Given the description of an element on the screen output the (x, y) to click on. 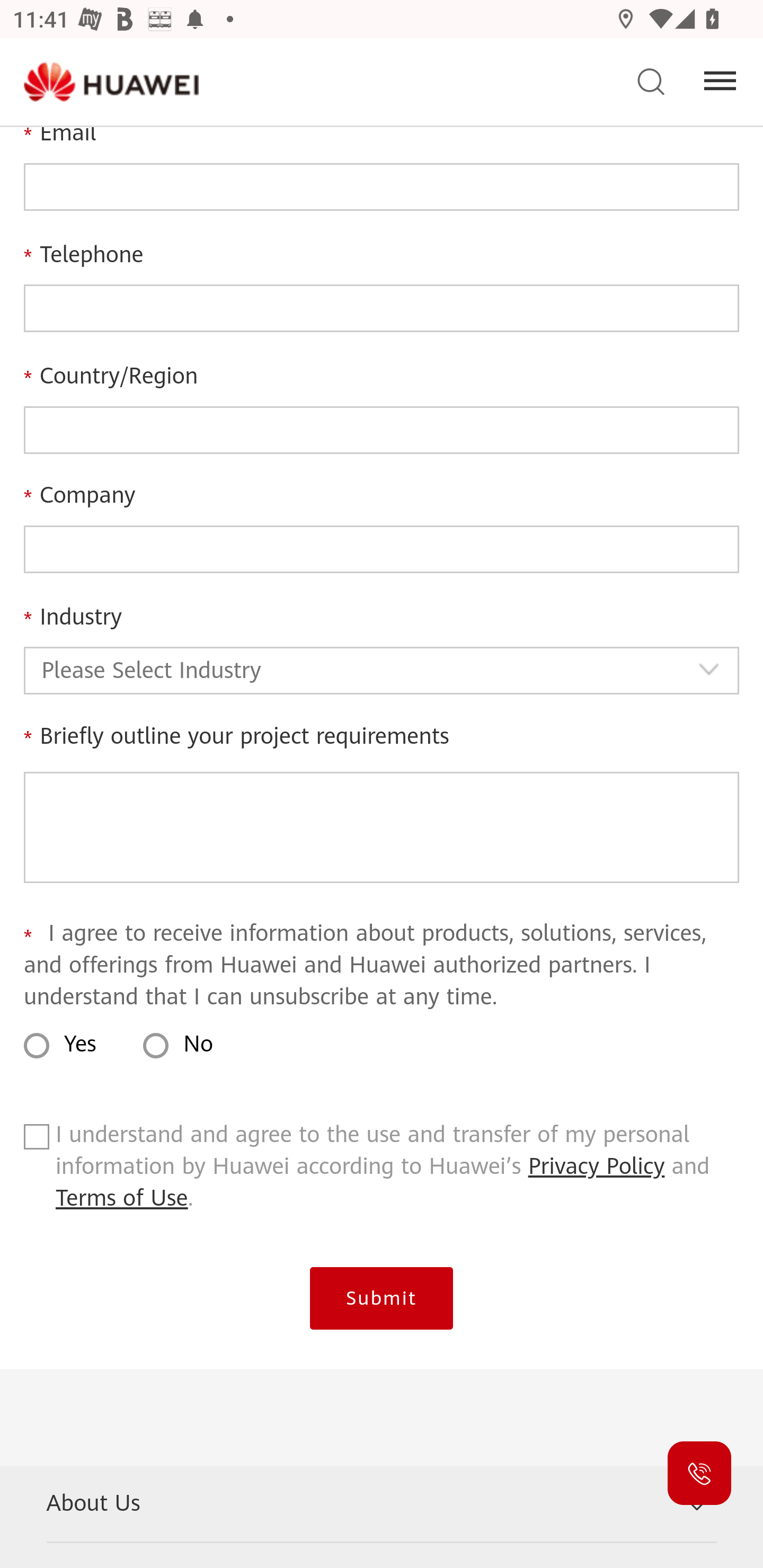
✓ (36, 1141)
Privacy Policy (596, 1168)
Terms of Use (122, 1199)
